Given the description of an element on the screen output the (x, y) to click on. 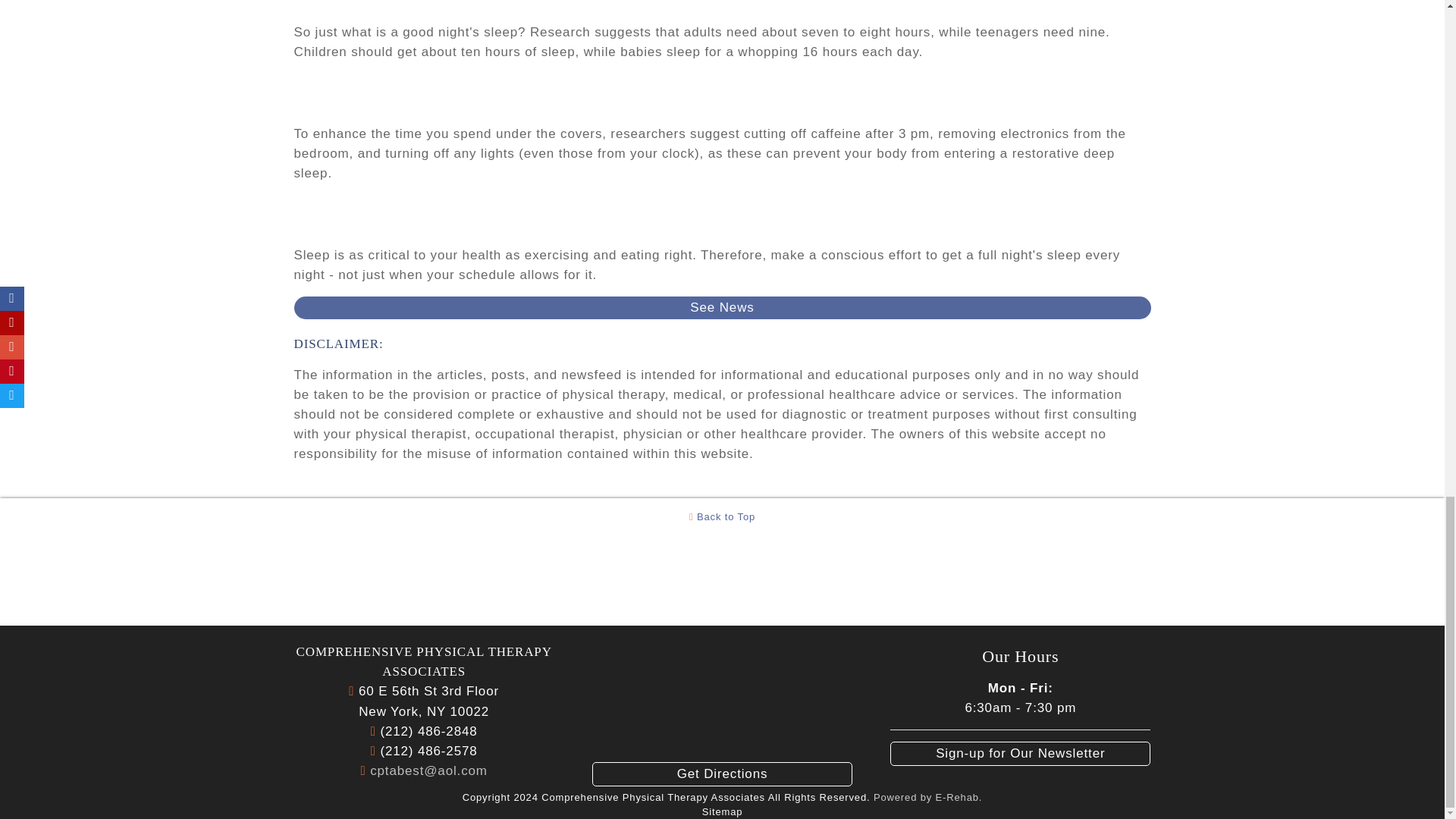
See News (722, 307)
Back to Top (721, 516)
Sitemap (721, 811)
